Given the description of an element on the screen output the (x, y) to click on. 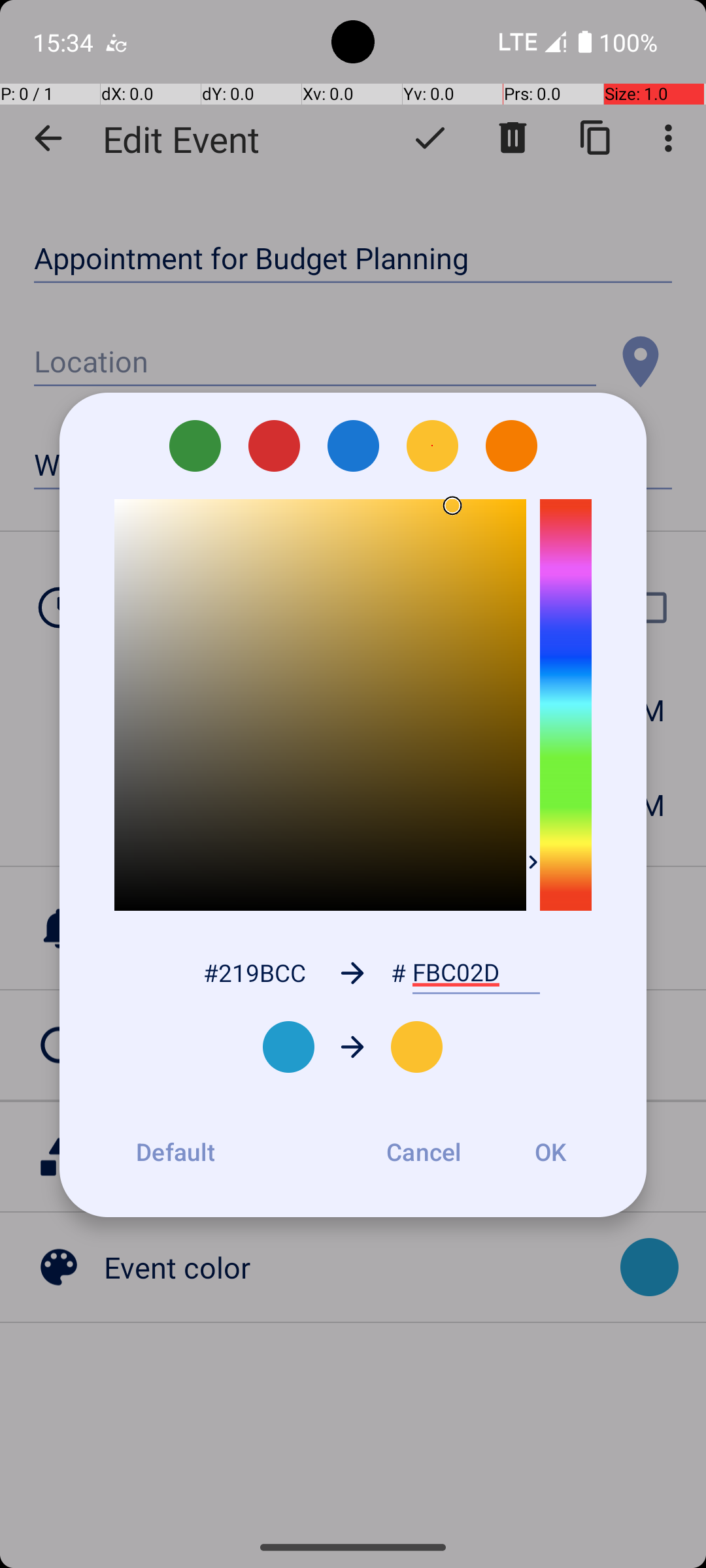
#219BCC Element type: android.widget.TextView (254, 972)
FBC02D Element type: android.widget.EditText (475, 972)
Default Element type: android.widget.Button (174, 1151)
